Given the description of an element on the screen output the (x, y) to click on. 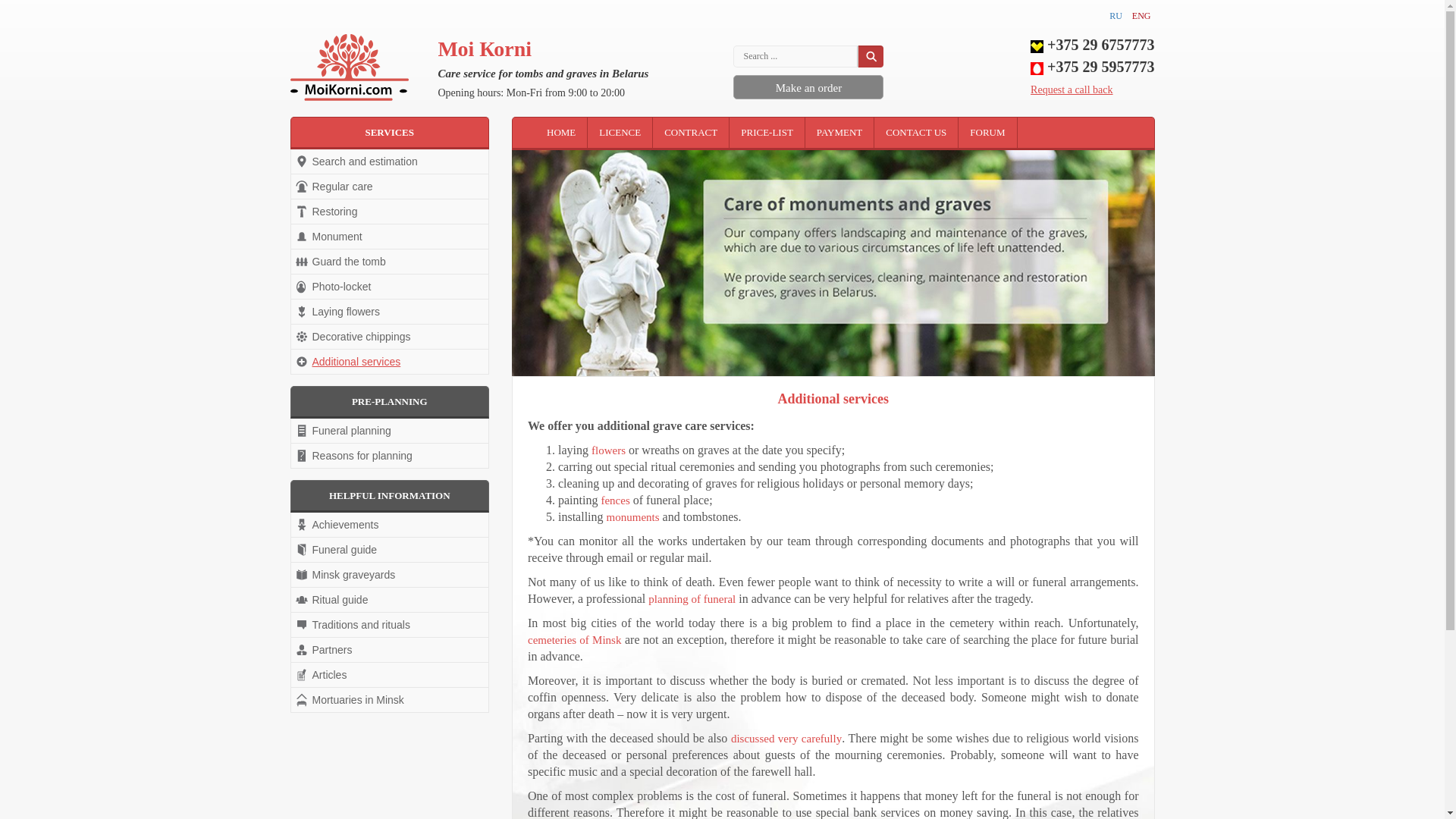
Funeral planning (390, 430)
RU (1116, 15)
Guard the tomb (390, 261)
Funeral guide (390, 549)
Partners (390, 649)
fences (613, 500)
Ritual guide (390, 599)
Decorative chippings (390, 336)
HOME (561, 132)
Make an order (808, 87)
ENG (1141, 15)
Additional services (390, 361)
flowers (608, 450)
Reasons for planning (390, 455)
planning of funeral (691, 598)
